Given the description of an element on the screen output the (x, y) to click on. 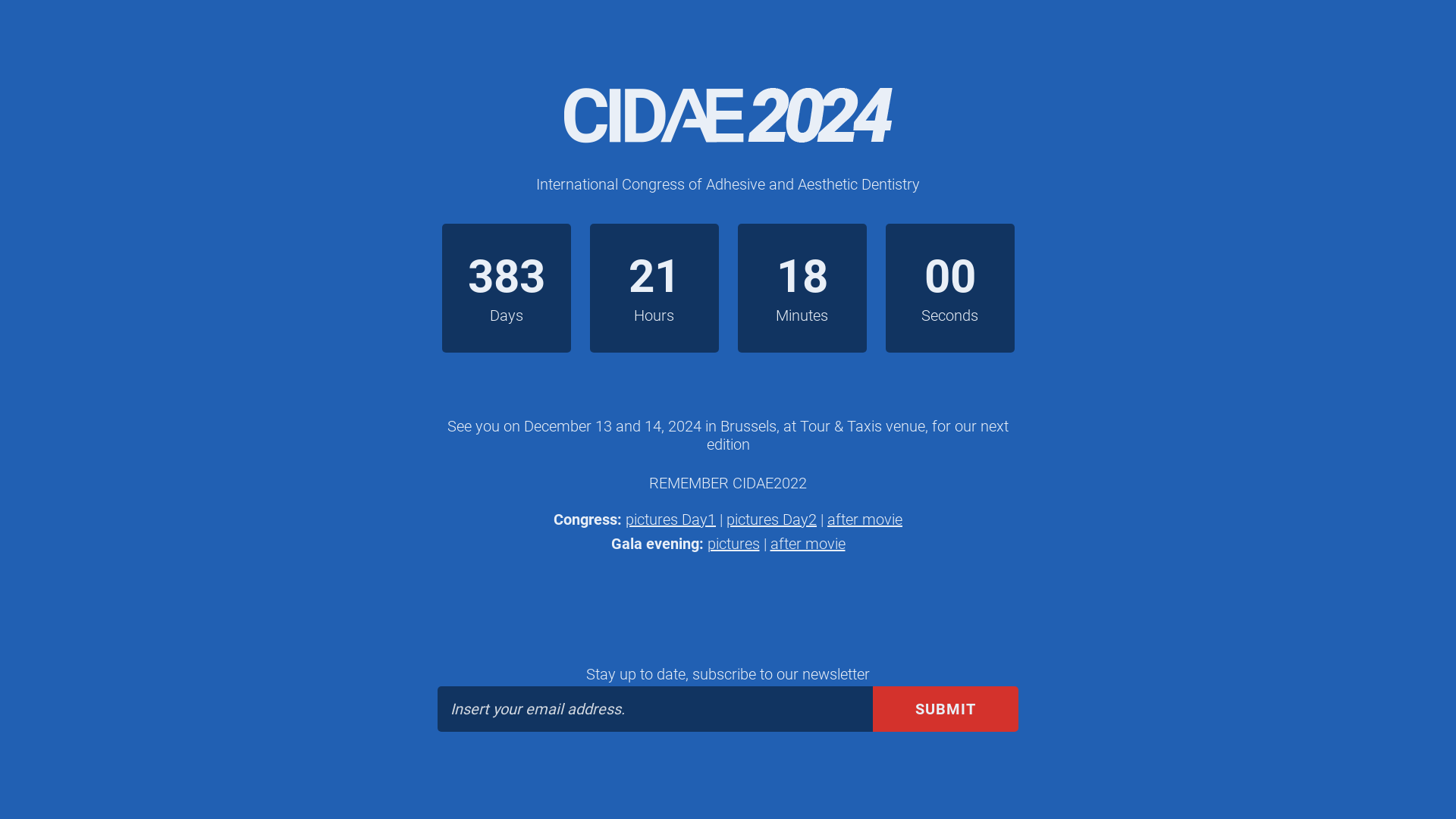
pictures Day1 Element type: text (670, 519)
Submit Element type: text (945, 708)
pictures Element type: text (732, 543)
after movie Element type: text (864, 519)
after movie Element type: text (807, 543)
pictures Day2 Element type: text (771, 519)
